Given the description of an element on the screen output the (x, y) to click on. 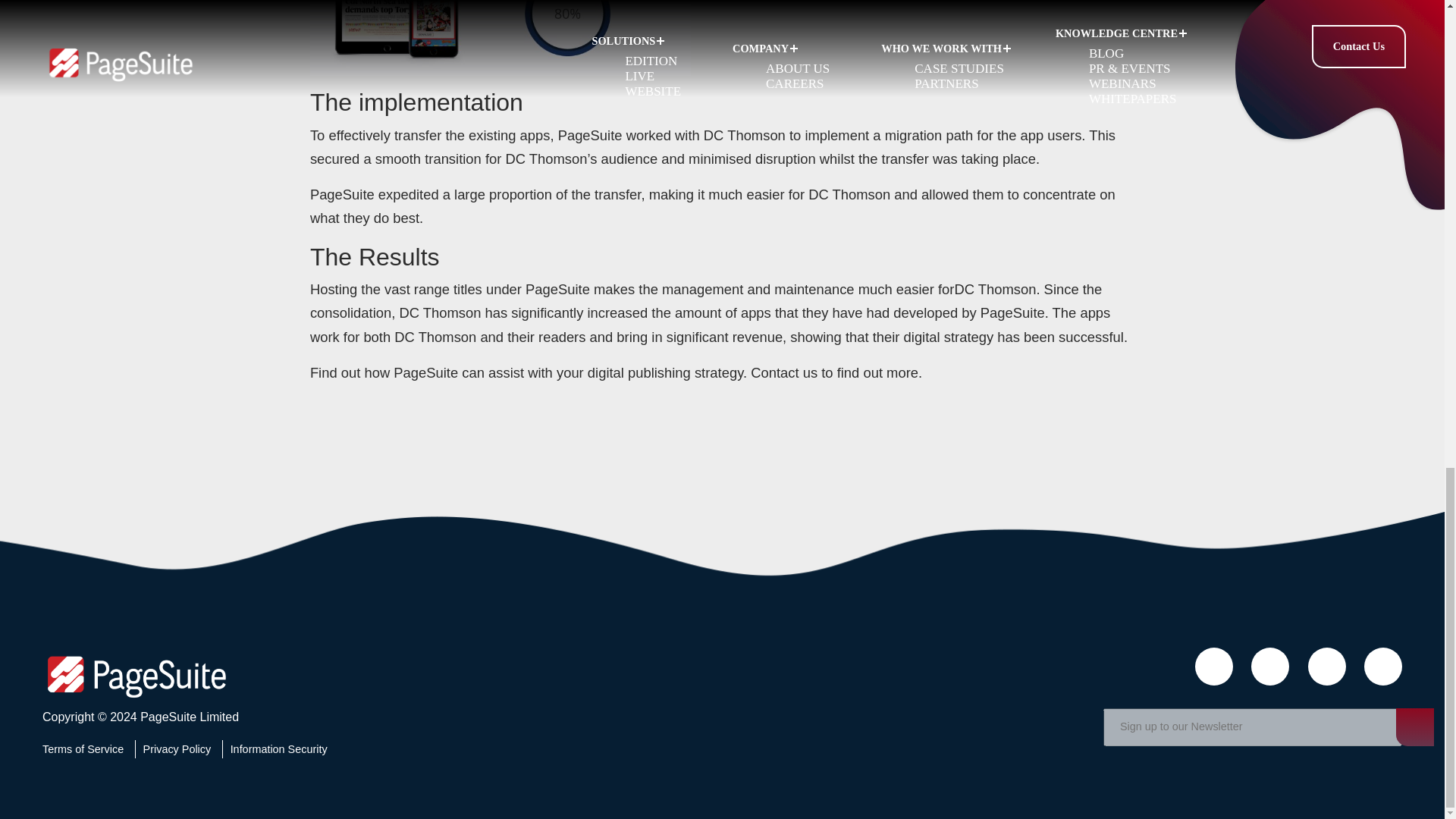
Privacy Policy (177, 748)
Information Security (278, 748)
Terms of Service (86, 748)
